Given the description of an element on the screen output the (x, y) to click on. 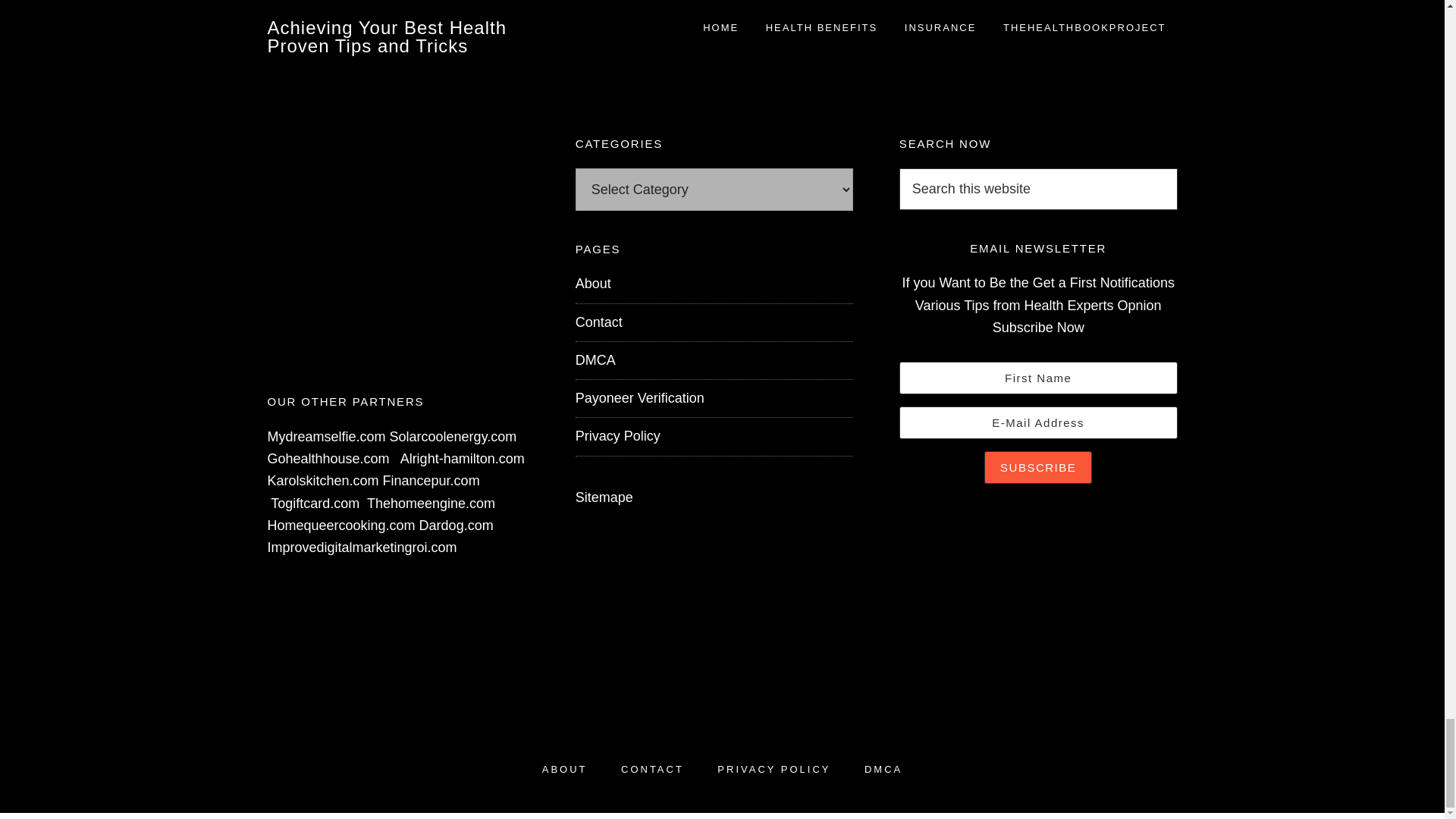
SUBSCRIBE (1038, 467)
